Given the description of an element on the screen output the (x, y) to click on. 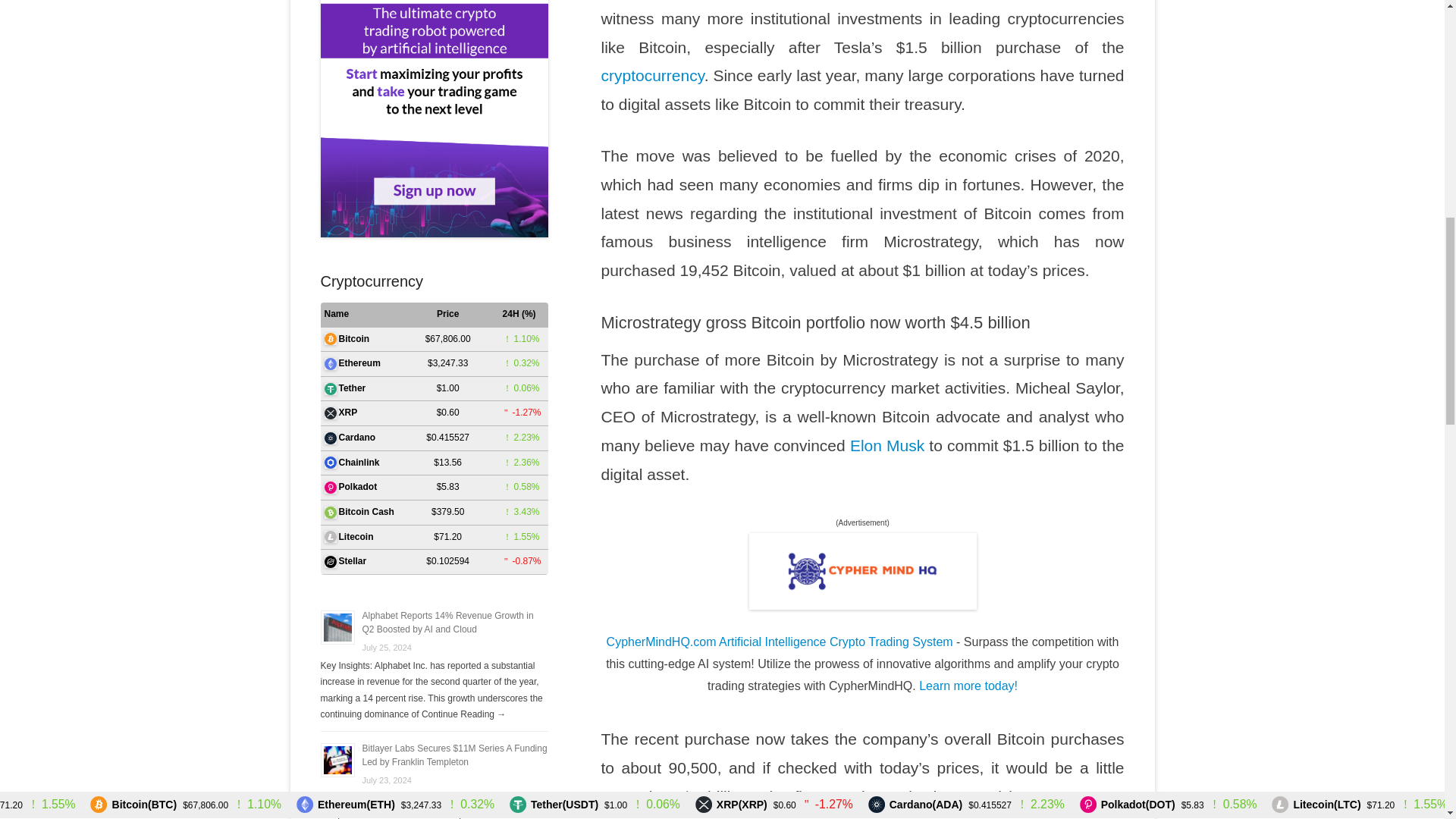
Elon Musk (887, 445)
Artificial Intelligence Crypto Trading (862, 571)
Elon Musk (887, 445)
Learn more today! (967, 685)
cryptocurrency (651, 75)
cryptocurrency (651, 75)
